Given the description of an element on the screen output the (x, y) to click on. 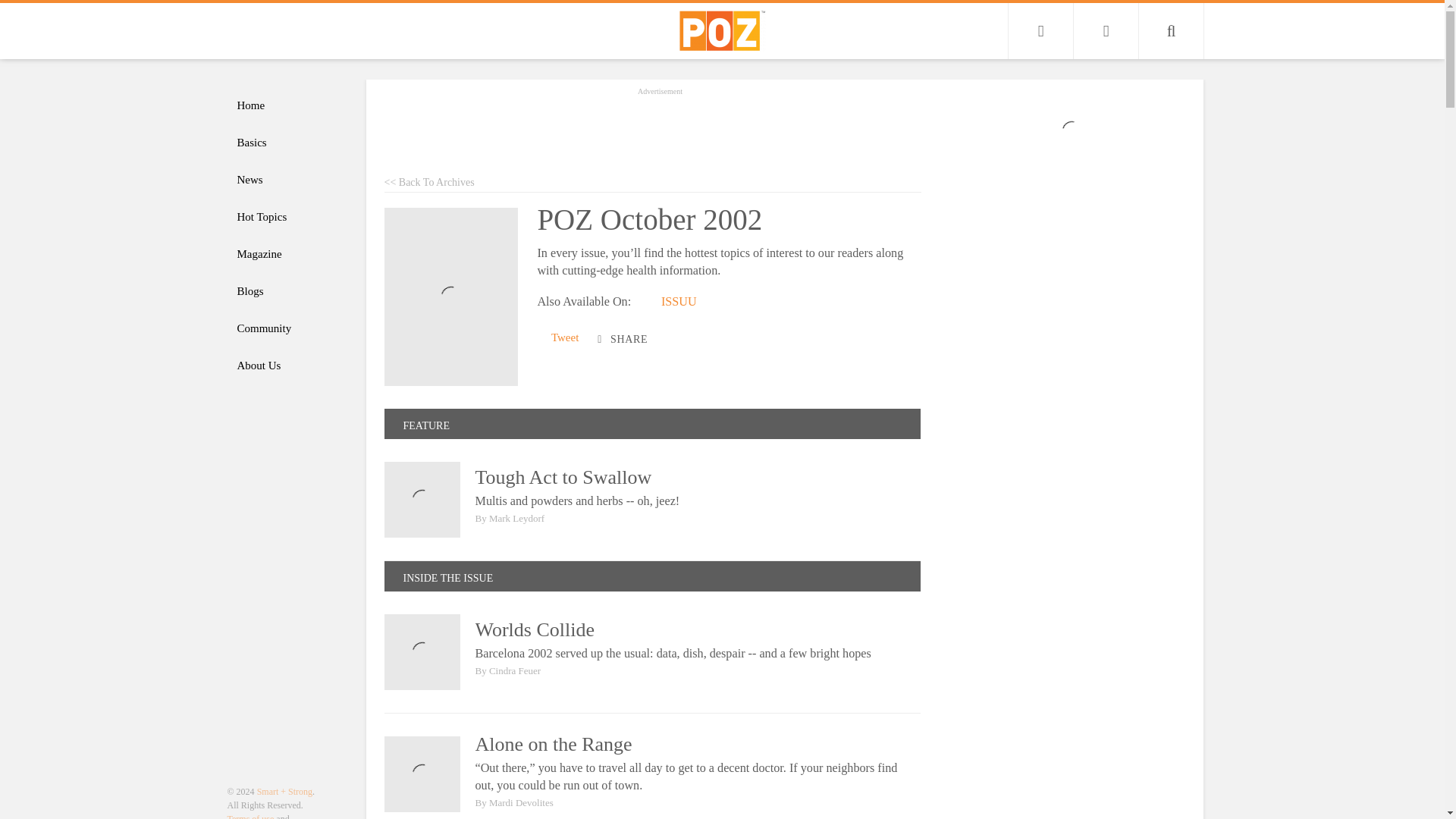
News (288, 180)
Basics (288, 142)
Home (288, 105)
Hot Topics (288, 217)
